Given the description of an element on the screen output the (x, y) to click on. 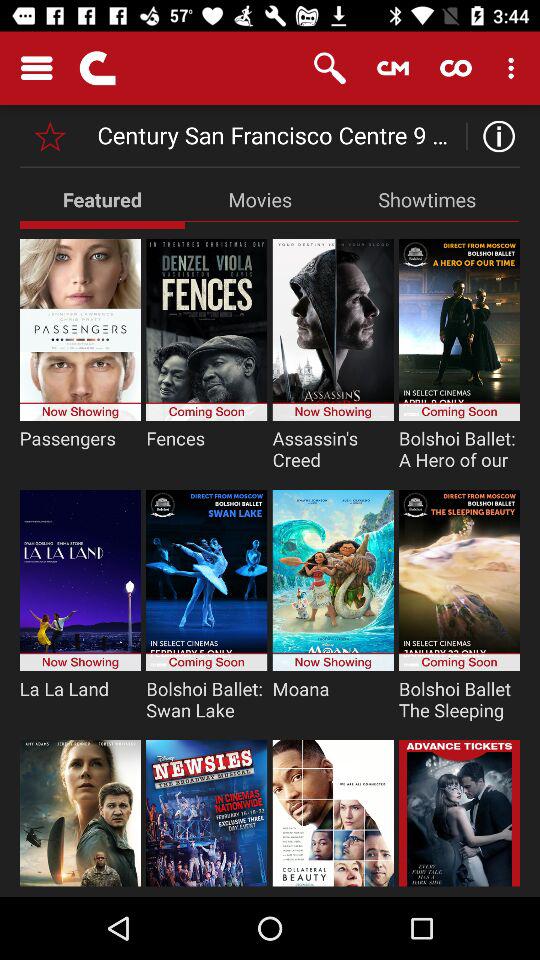
press the showtimes (427, 199)
